Given the description of an element on the screen output the (x, y) to click on. 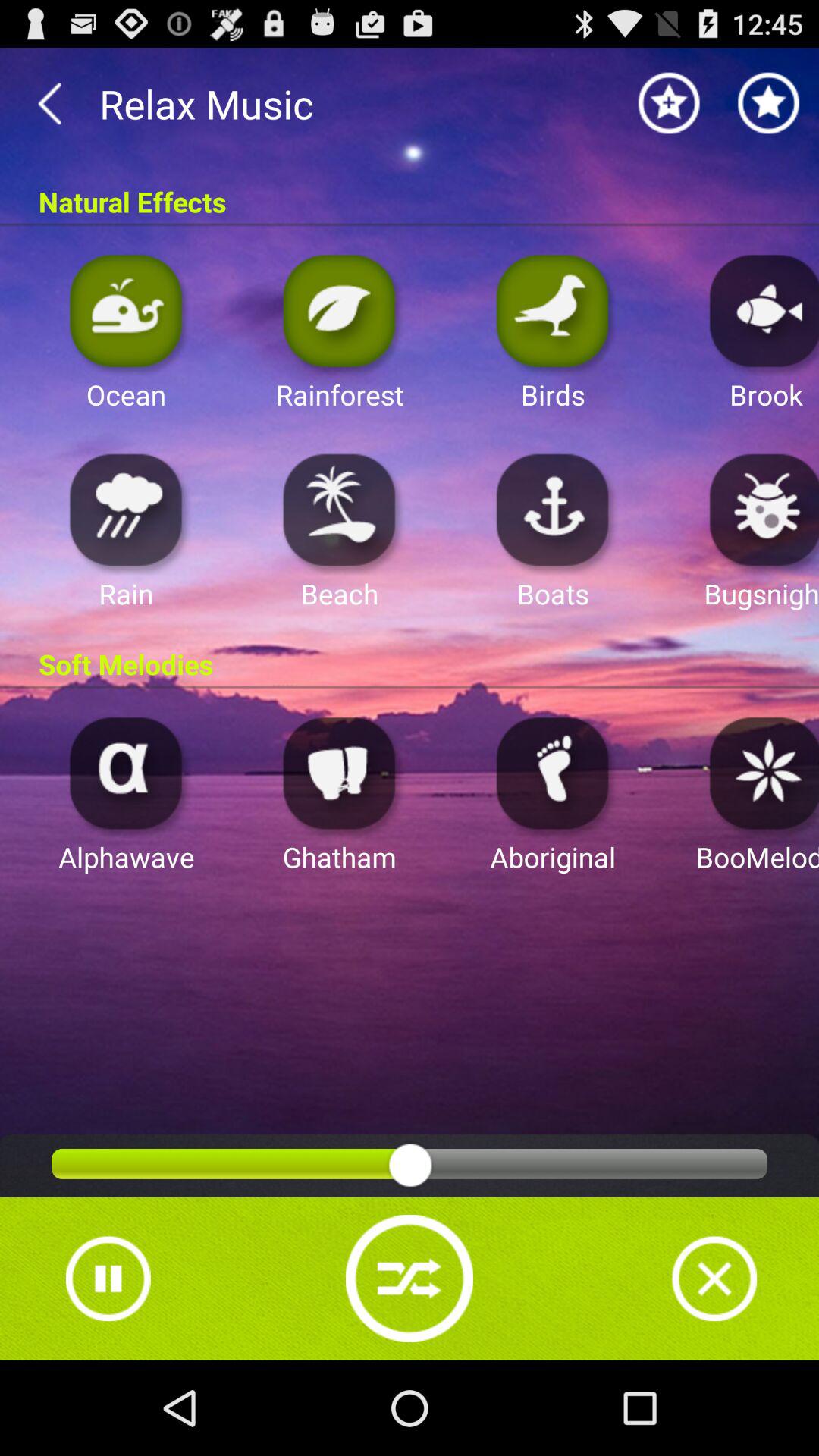
beach symbol (339, 509)
